Given the description of an element on the screen output the (x, y) to click on. 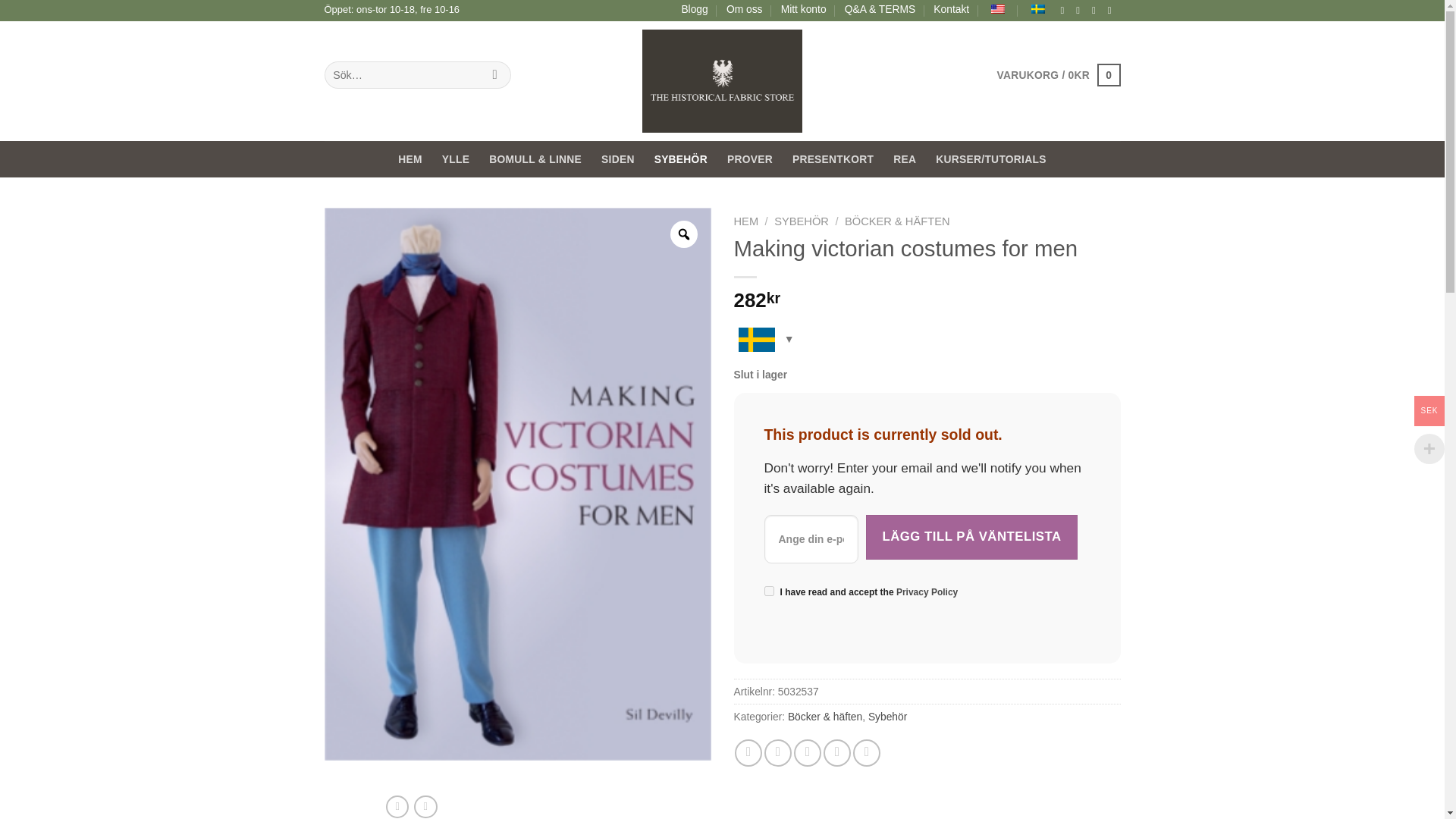
English (997, 8)
PROVER (749, 158)
Blogg (694, 9)
Om oss (744, 9)
SIDEN (617, 158)
PRESENTKORT (832, 158)
Please select your currency (763, 344)
yes (769, 591)
Kontakt (951, 9)
Mitt konto (803, 9)
Varukorg (1057, 75)
Swedish (1037, 8)
HEM (745, 221)
